Given the description of an element on the screen output the (x, y) to click on. 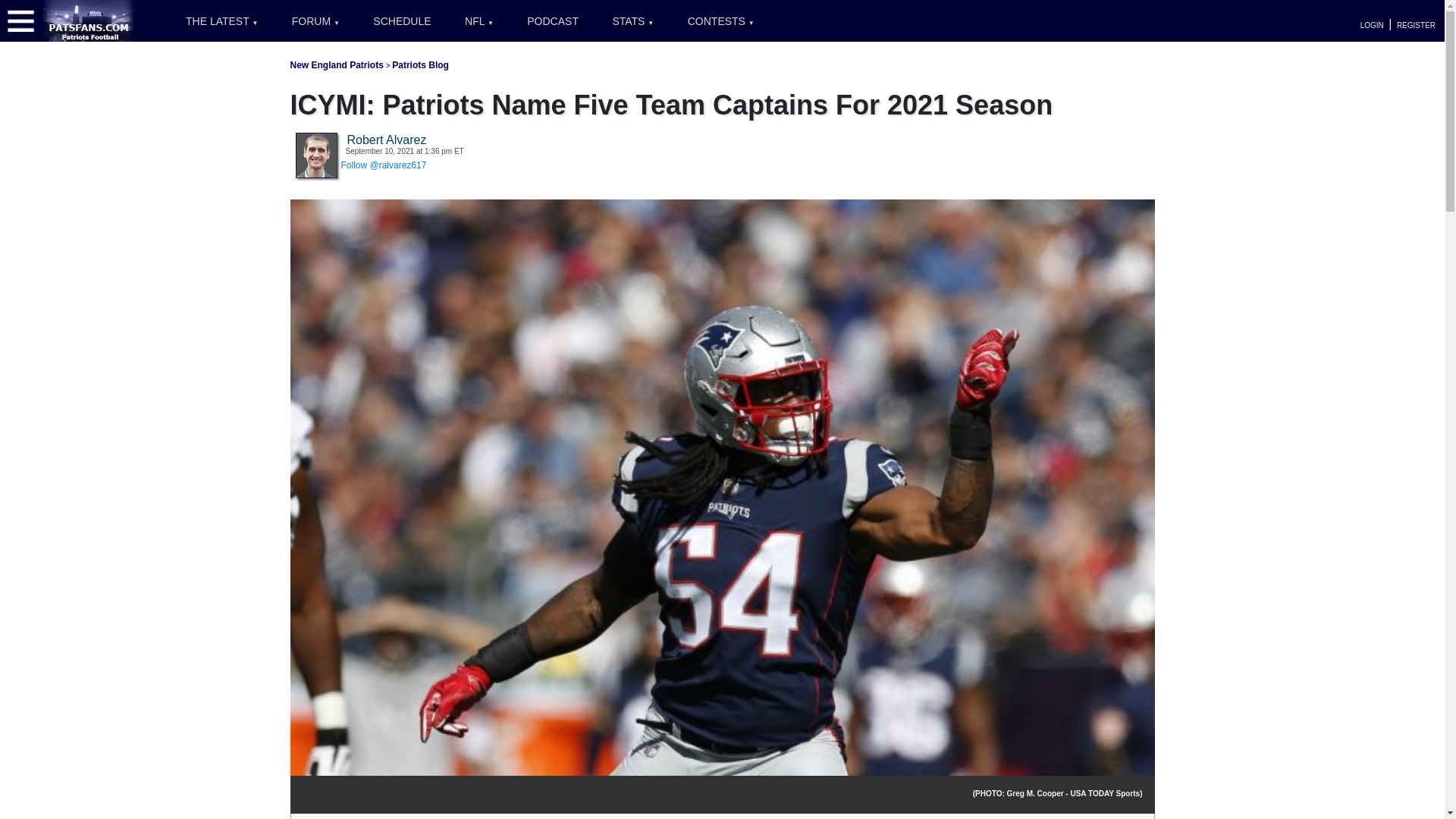
SCHEDULE (401, 21)
Robert Alvarez on PatsFans.com (316, 154)
New England Patriots at PatsFans.com (335, 64)
Patriots Blog (419, 64)
PODCAST (553, 21)
PatsFans.com (89, 19)
